Given the description of an element on the screen output the (x, y) to click on. 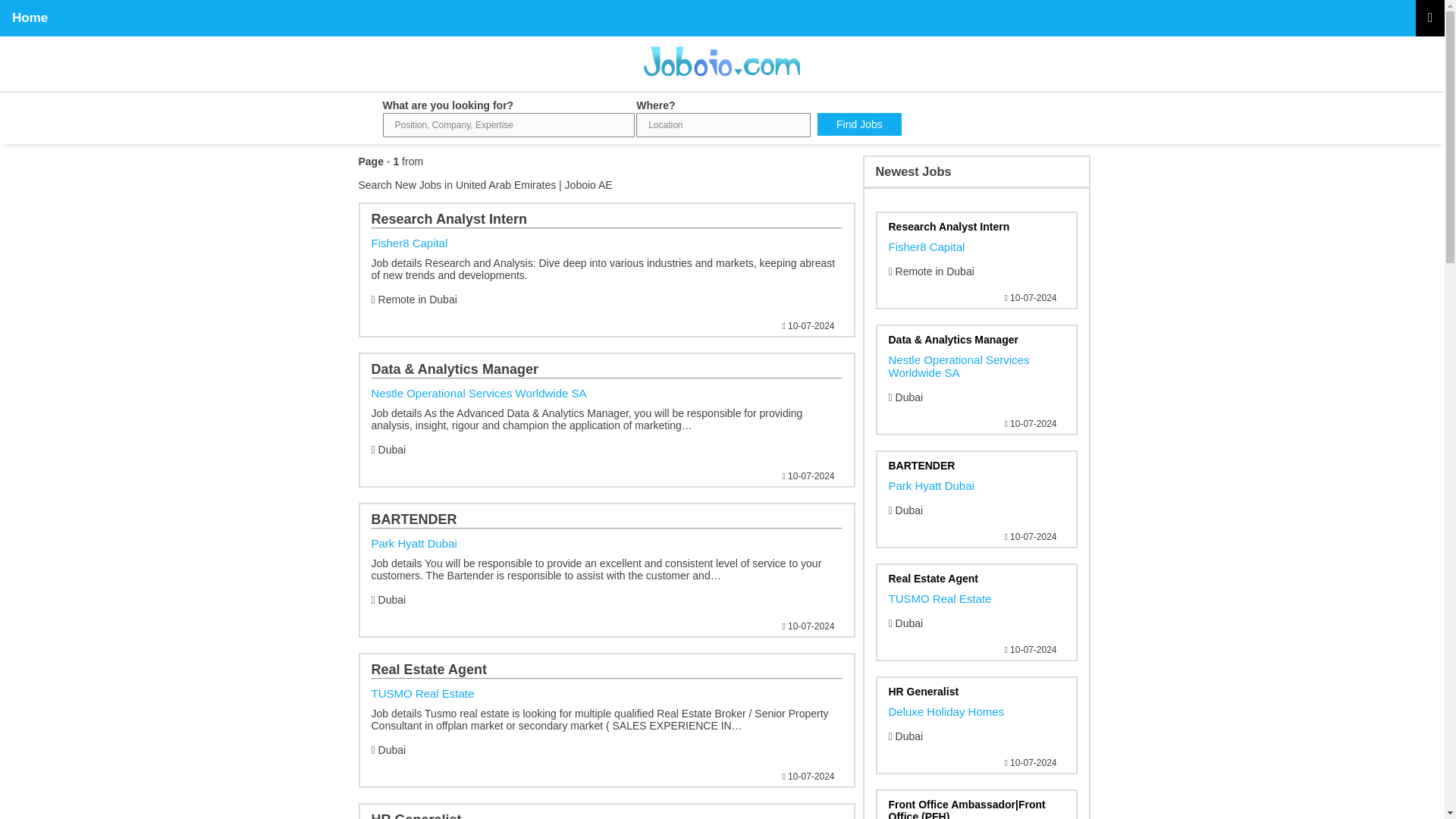
Find Jobs (858, 124)
HR Generalist (607, 815)
Research Analyst Intern (976, 707)
Real Estate Agent (976, 242)
Research Analyst Intern (976, 481)
BARTENDER (607, 252)
Joboio (607, 702)
